Given the description of an element on the screen output the (x, y) to click on. 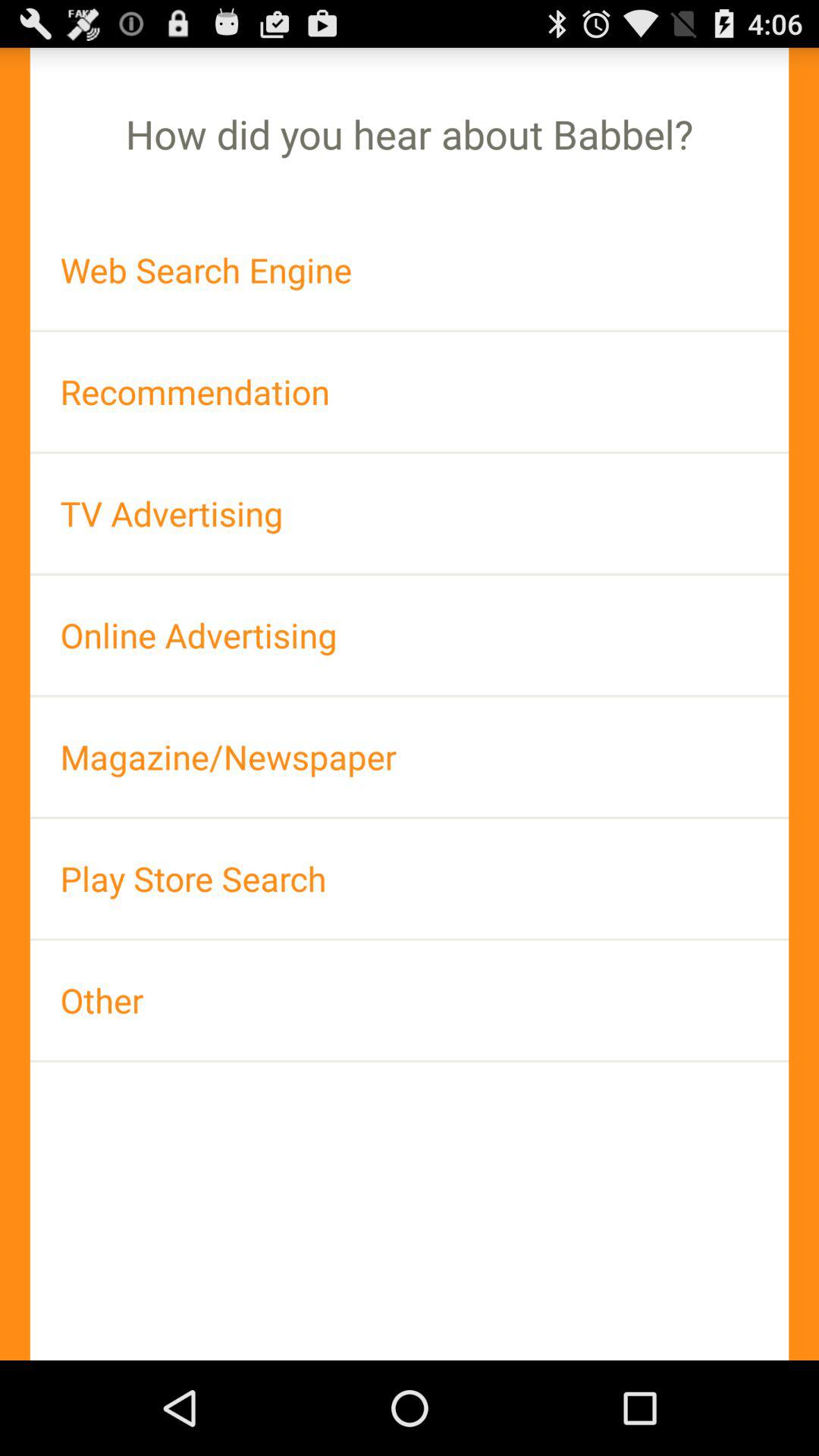
scroll to the web search engine item (409, 269)
